Given the description of an element on the screen output the (x, y) to click on. 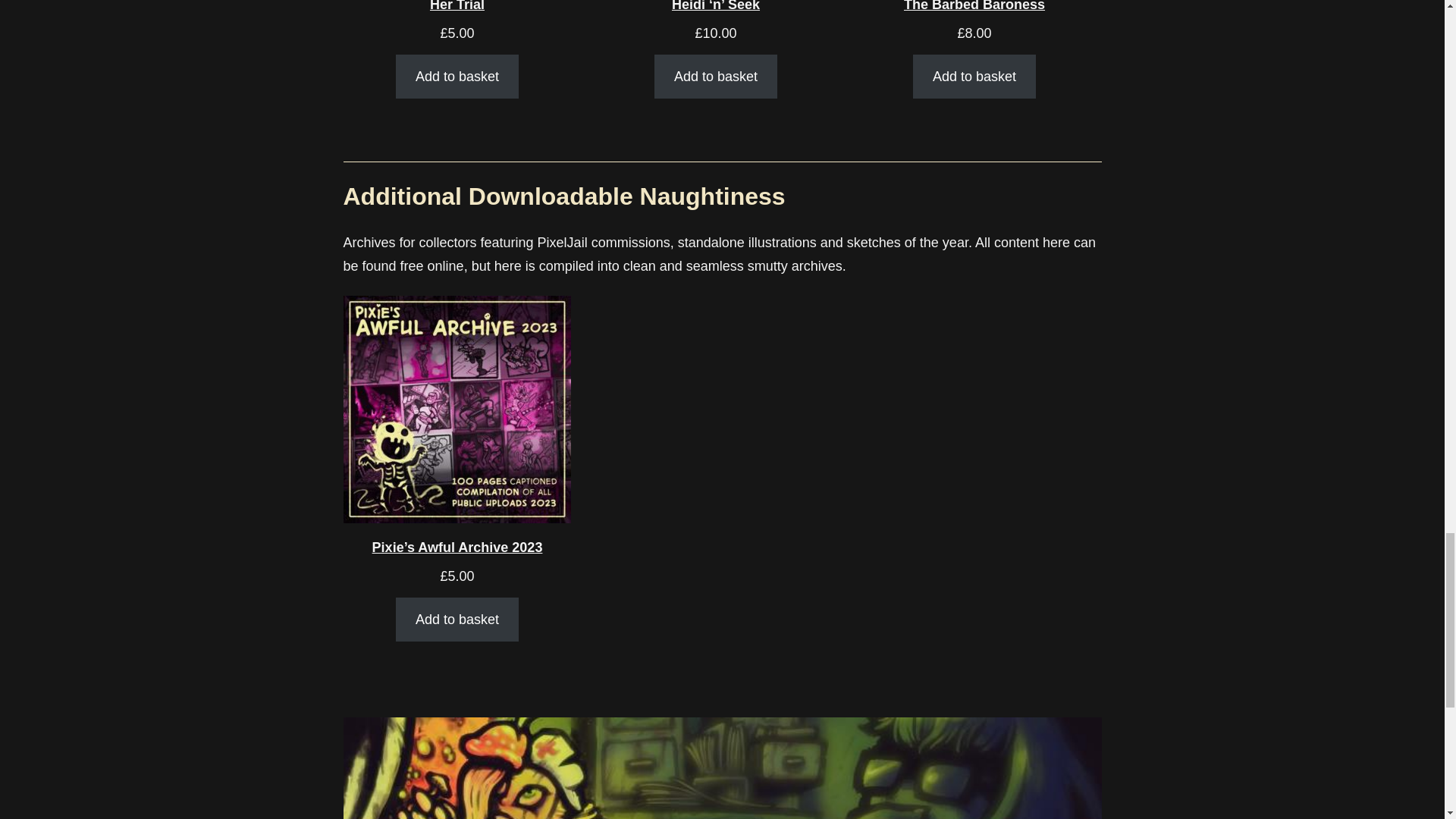
Add to basket (973, 76)
Her Trial (456, 11)
Add to basket (715, 76)
Add to basket (456, 76)
The Barbed Baroness (973, 11)
Add to basket (456, 619)
